Given the description of an element on the screen output the (x, y) to click on. 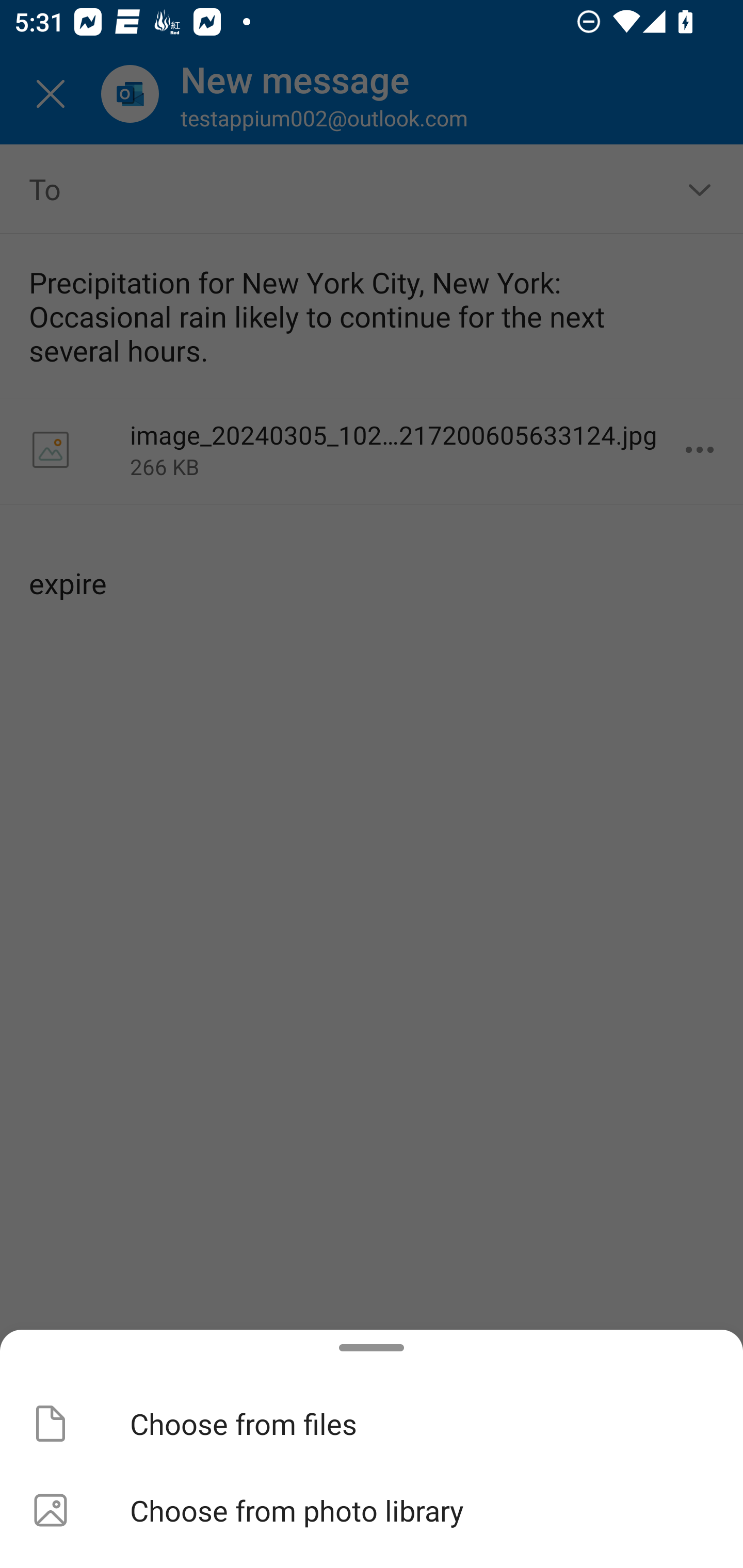
Choose from files (371, 1423)
Choose from photo library (371, 1510)
